Given the description of an element on the screen output the (x, y) to click on. 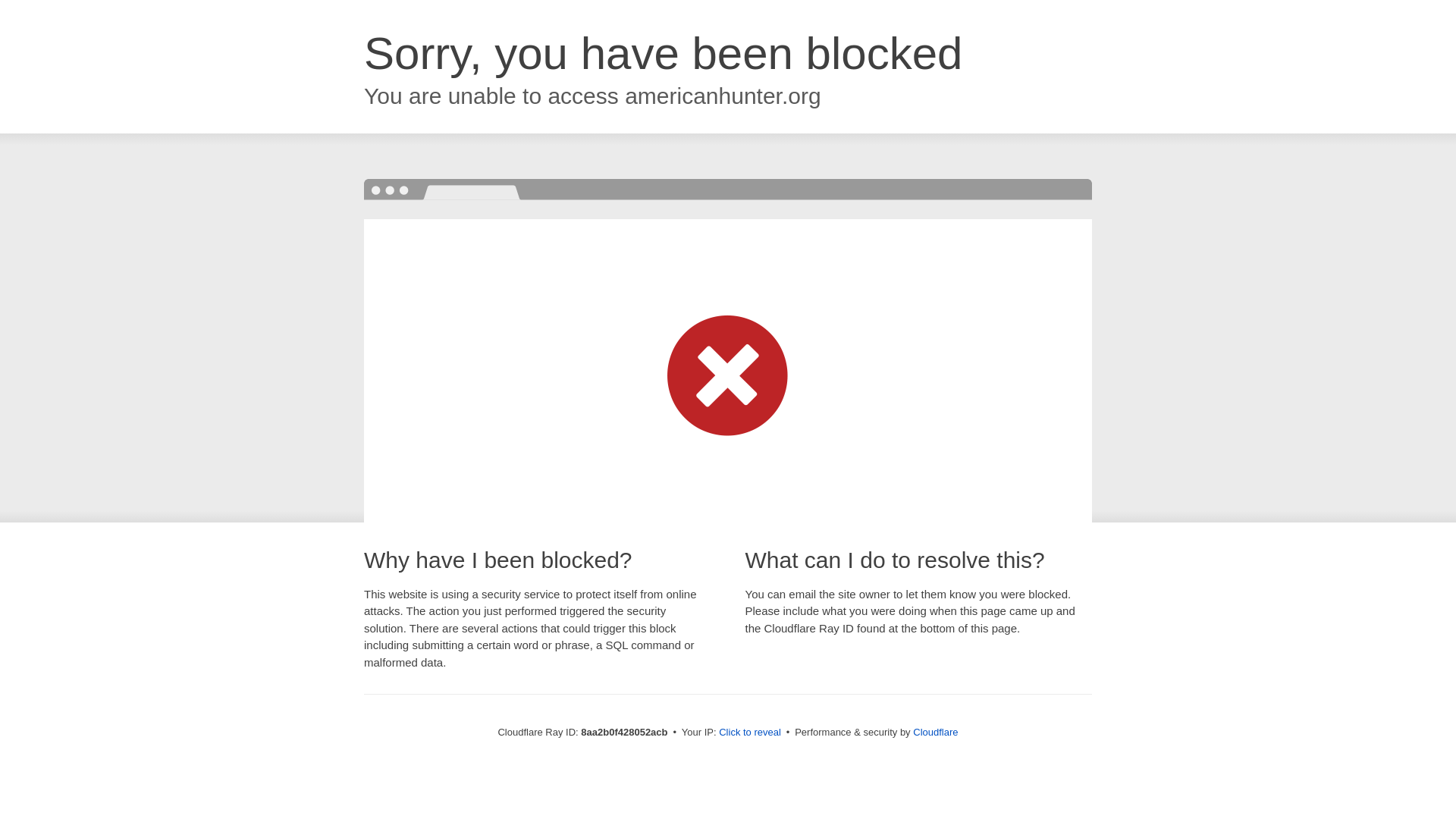
Cloudflare (935, 731)
Click to reveal (749, 732)
